Given the description of an element on the screen output the (x, y) to click on. 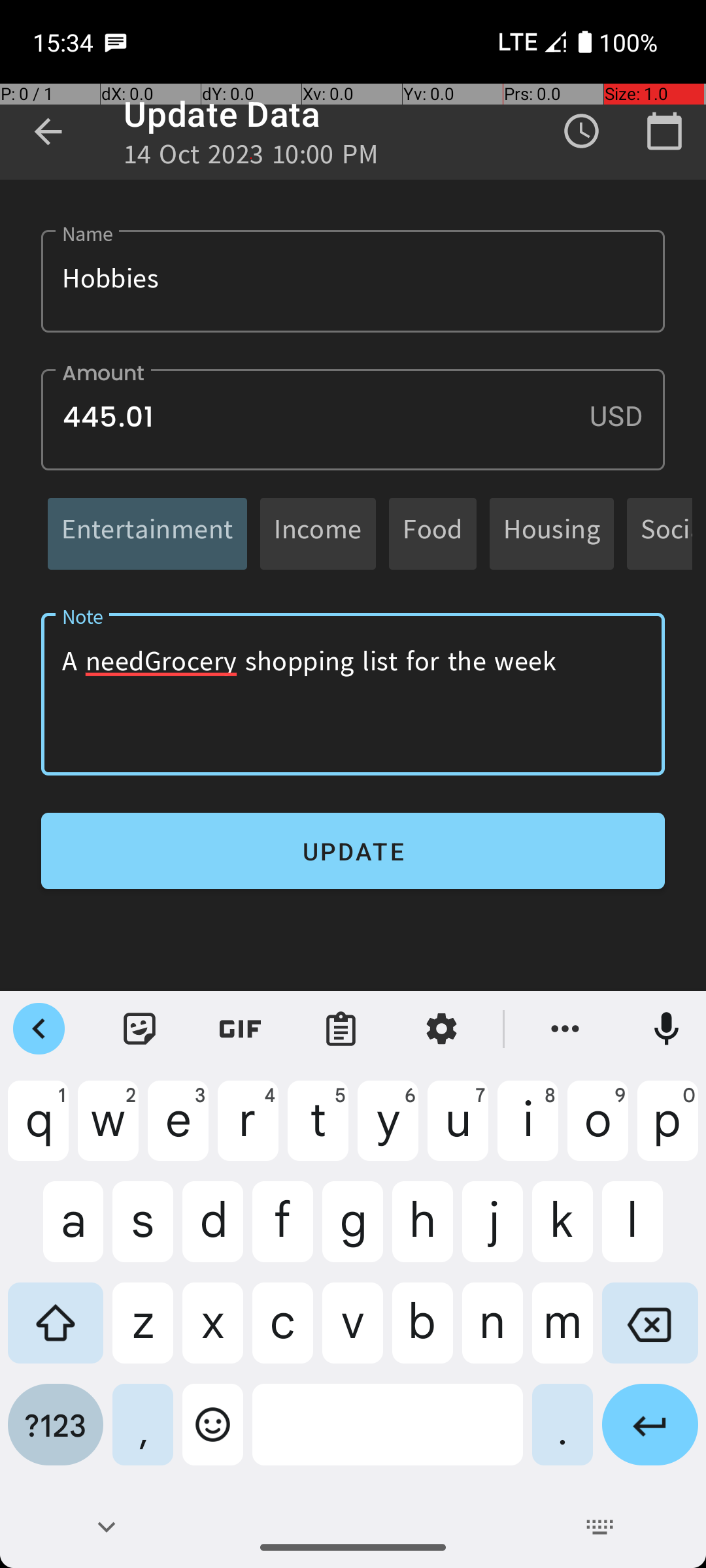
14 Oct 2023 10:00 PM Element type: android.widget.TextView (250, 157)
Hobbies Element type: android.widget.EditText (352, 280)
445.01 Element type: android.widget.EditText (352, 419)
A needGrocery shopping list for the week
 Element type: android.widget.EditText (352, 693)
SMS Messenger notification: Juan Alves Element type: android.widget.ImageView (115, 41)
